Given the description of an element on the screen output the (x, y) to click on. 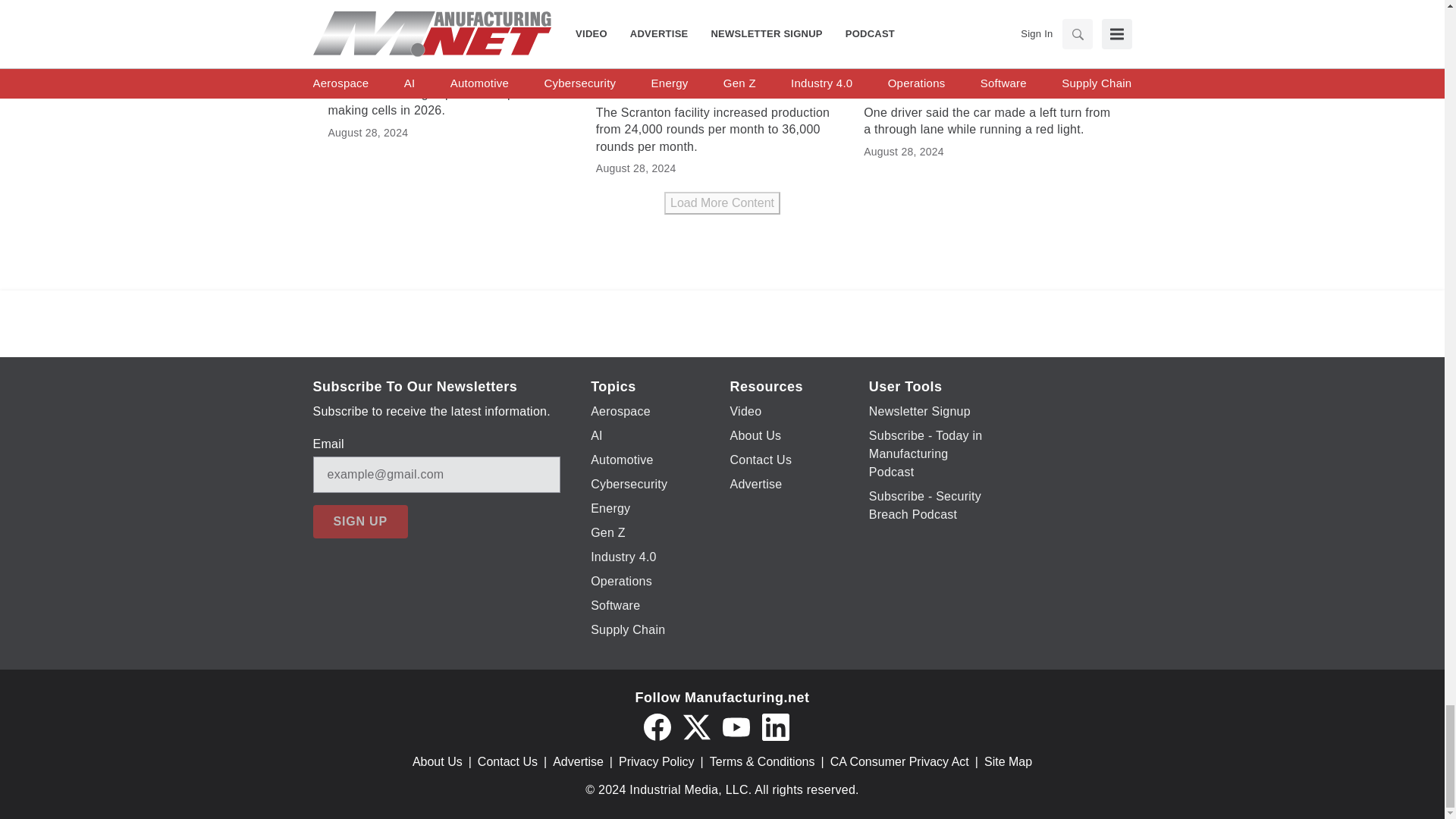
Twitter X icon (696, 727)
Facebook icon (656, 727)
YouTube icon (735, 727)
LinkedIn icon (775, 727)
